Given the description of an element on the screen output the (x, y) to click on. 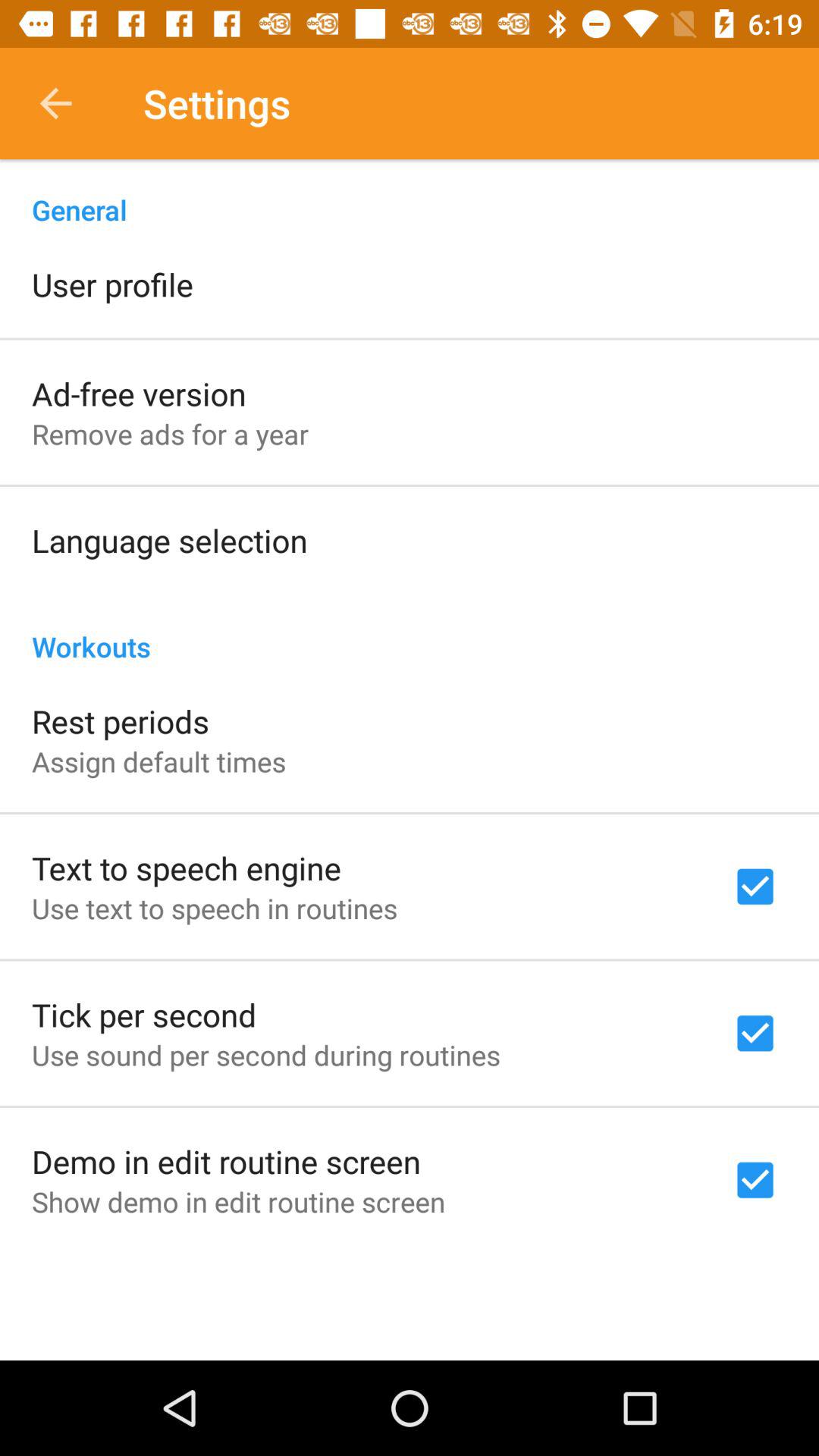
press workouts icon (409, 630)
